Given the description of an element on the screen output the (x, y) to click on. 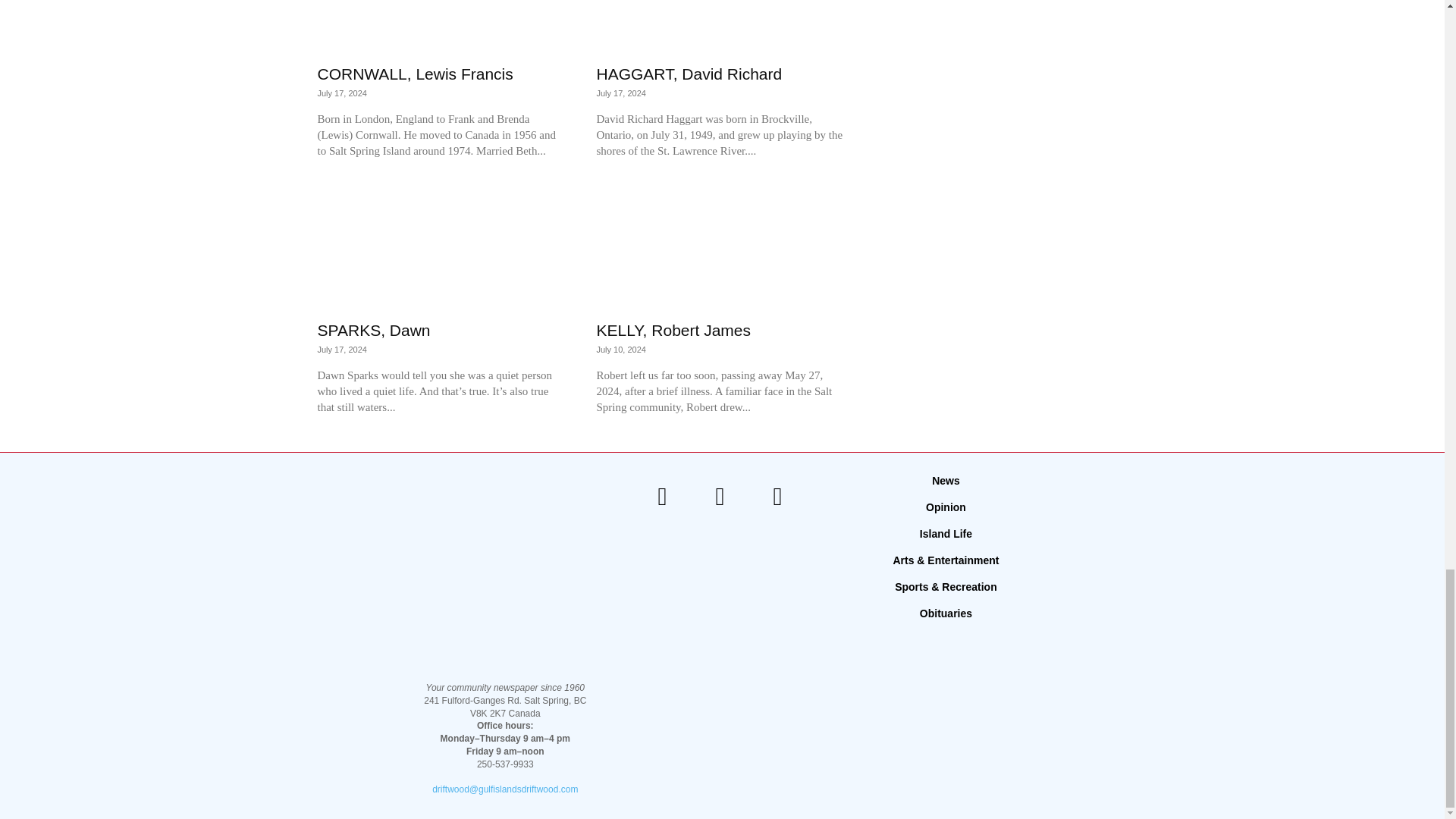
HAGGART, David Richard (688, 73)
SPARKS, Dawn (441, 248)
CORNWALL, Lewis Francis (441, 27)
HAGGART, David Richard (719, 27)
CORNWALL, Lewis Francis (414, 73)
